Given the description of an element on the screen output the (x, y) to click on. 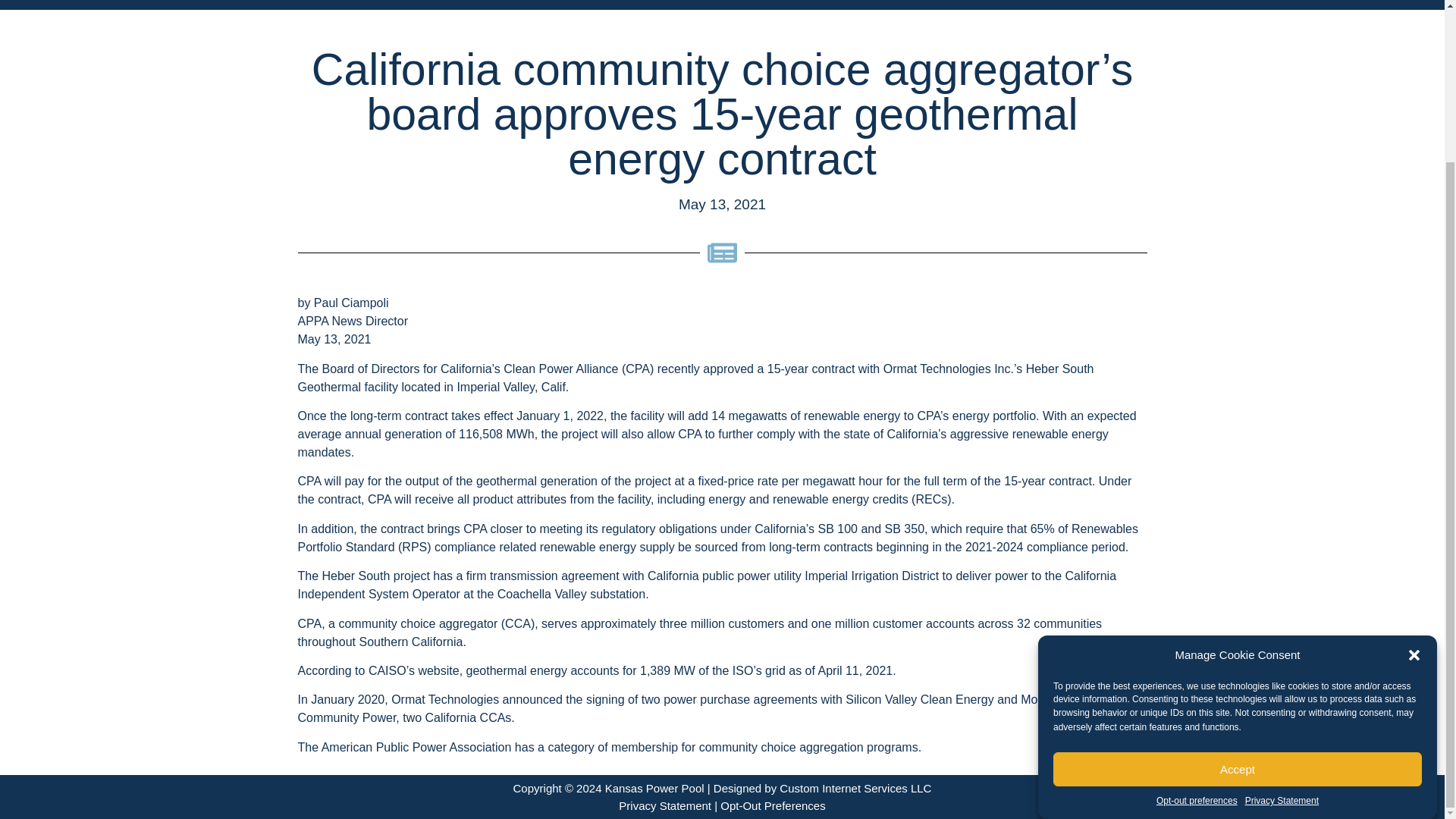
ABOUT KPP (229, 1)
OPPORTUNITIES (972, 1)
FINANCIAL (405, 1)
NEWS (794, 1)
MEMBER SERVICES (603, 1)
MEMBERS ONLY (1194, 1)
